Given the description of an element on the screen output the (x, y) to click on. 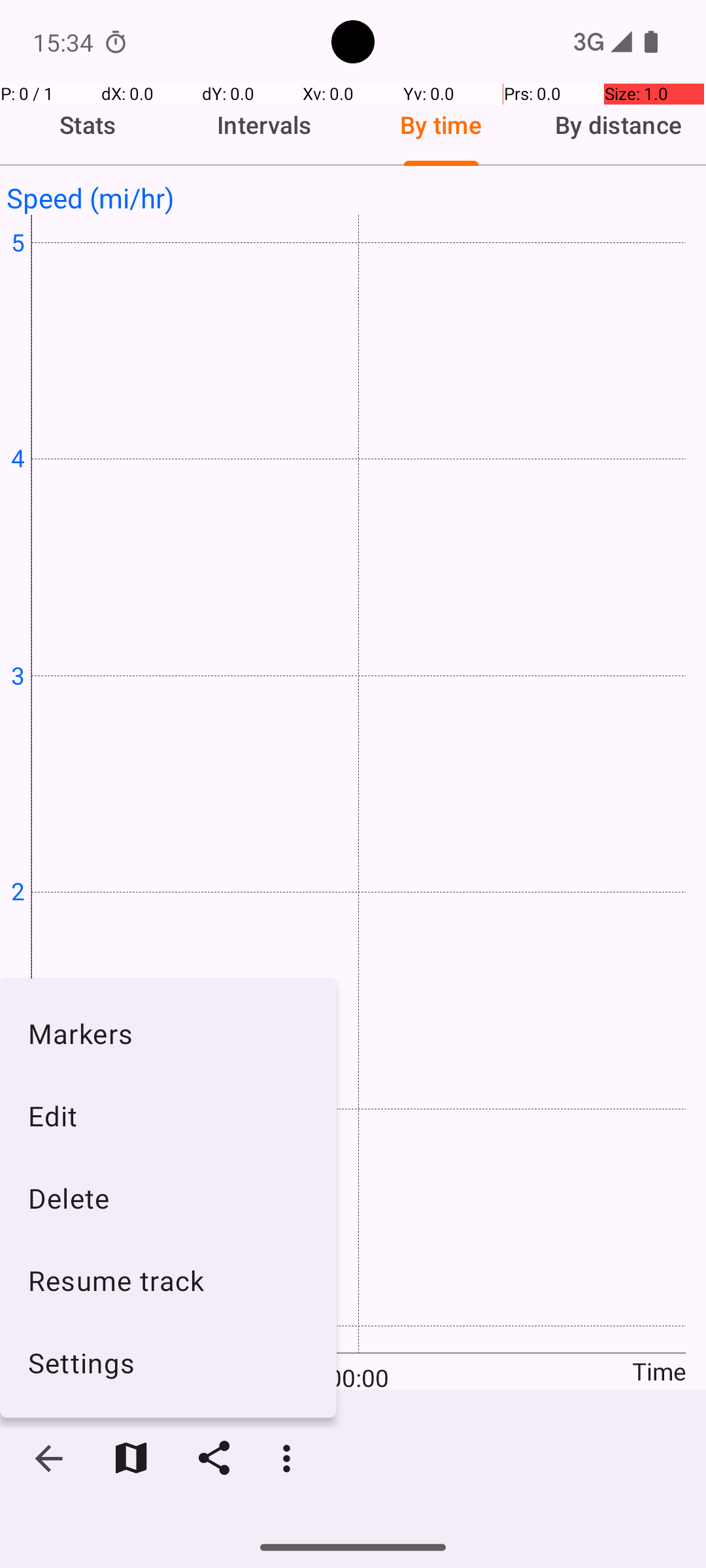
Resume track Element type: android.widget.TextView (168, 1279)
